Given the description of an element on the screen output the (x, y) to click on. 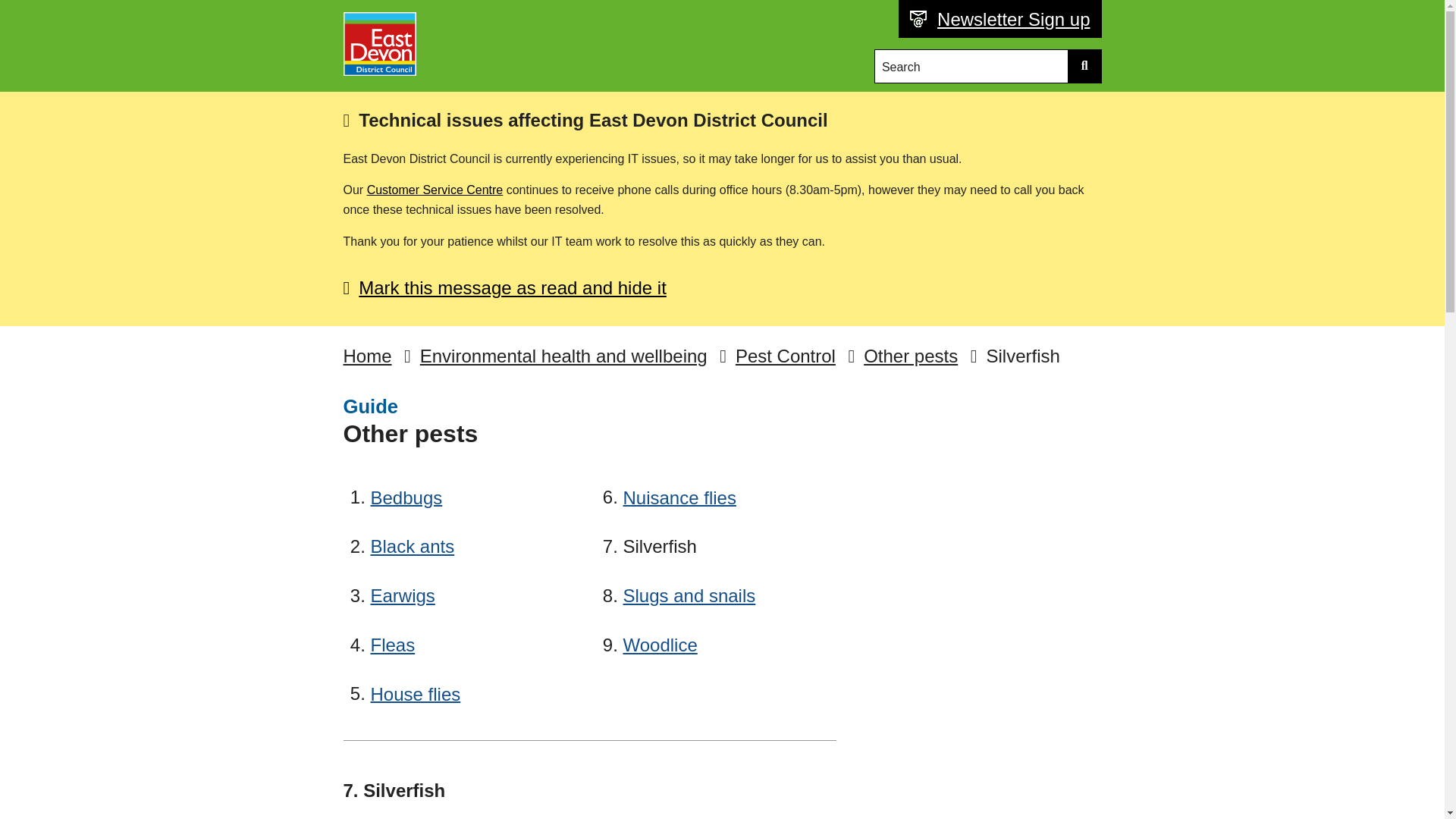
Other pests (910, 355)
Pest Control (785, 355)
Earwigs (401, 595)
Mark this message as read and hide it (503, 288)
Fleas (391, 644)
Bedbugs (405, 497)
Slugs and snails (689, 595)
Newsletter Sign up (1008, 20)
search (1084, 66)
Home (366, 355)
House flies (414, 693)
Woodlice (660, 644)
Customer Service Centre (434, 189)
Search (971, 66)
Black ants (411, 545)
